Given the description of an element on the screen output the (x, y) to click on. 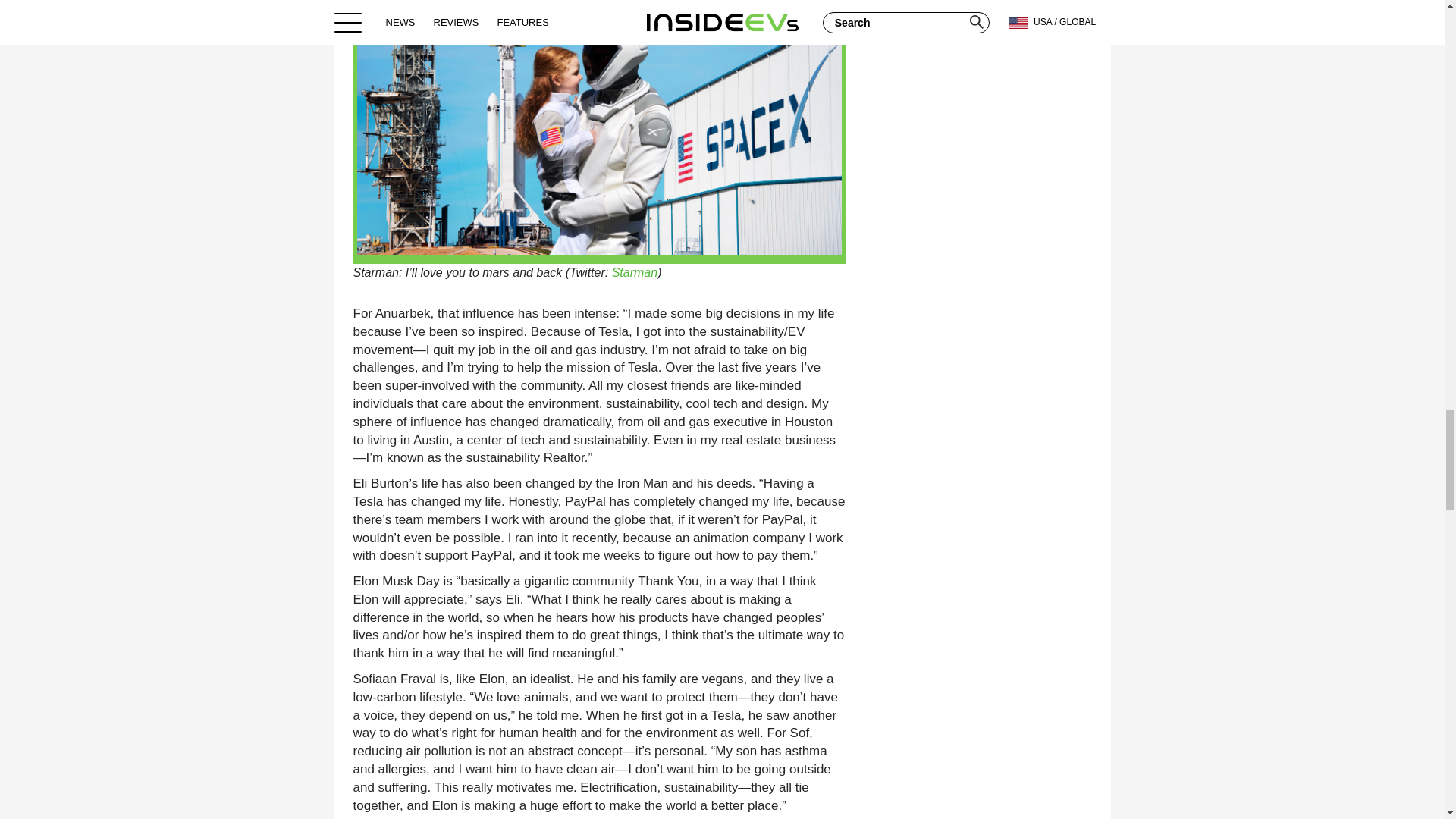
Starman (634, 272)
